Given the description of an element on the screen output the (x, y) to click on. 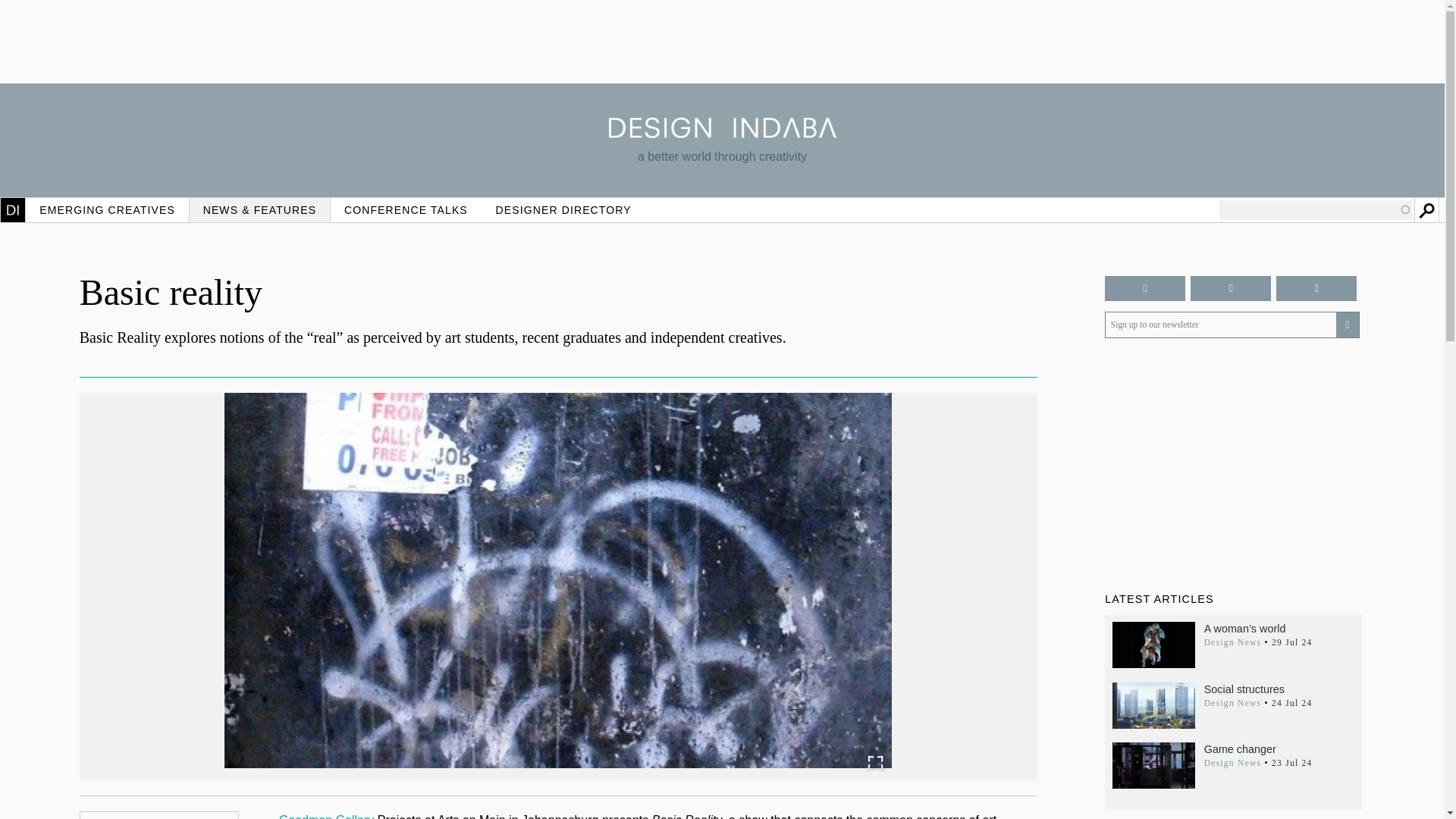
Apply (1426, 209)
CONFERENCE TALKS (405, 209)
HOME (13, 209)
Apply (1426, 209)
3rd party ad content (721, 41)
Home (721, 133)
EMERGING CREATIVES (107, 209)
DESIGNER DIRECTORY (563, 209)
